Given the description of an element on the screen output the (x, y) to click on. 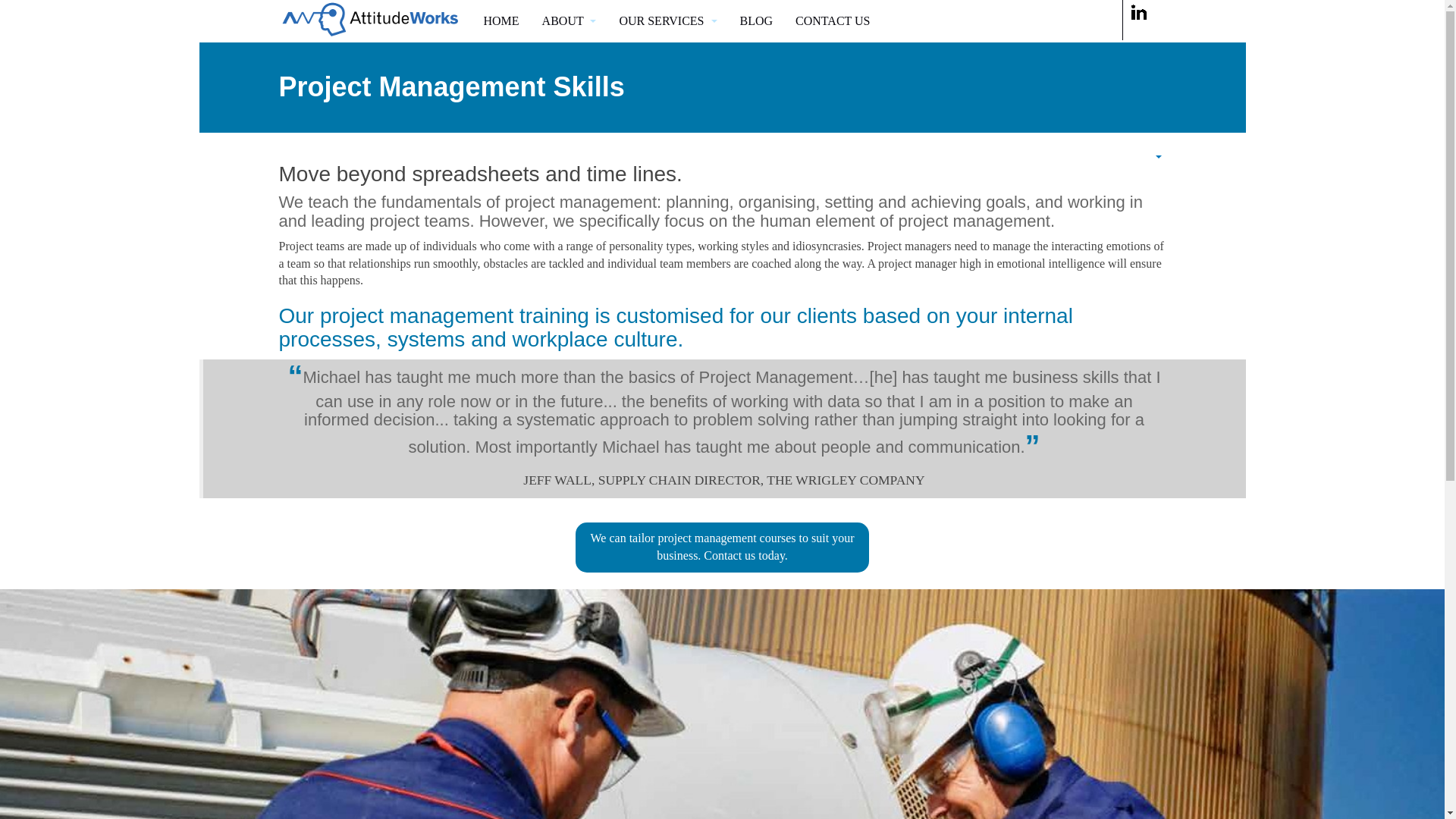
AttitueWorks (370, 19)
ABOUT (568, 20)
OUR SERVICES (667, 20)
CONTACT US (831, 20)
